Given the description of an element on the screen output the (x, y) to click on. 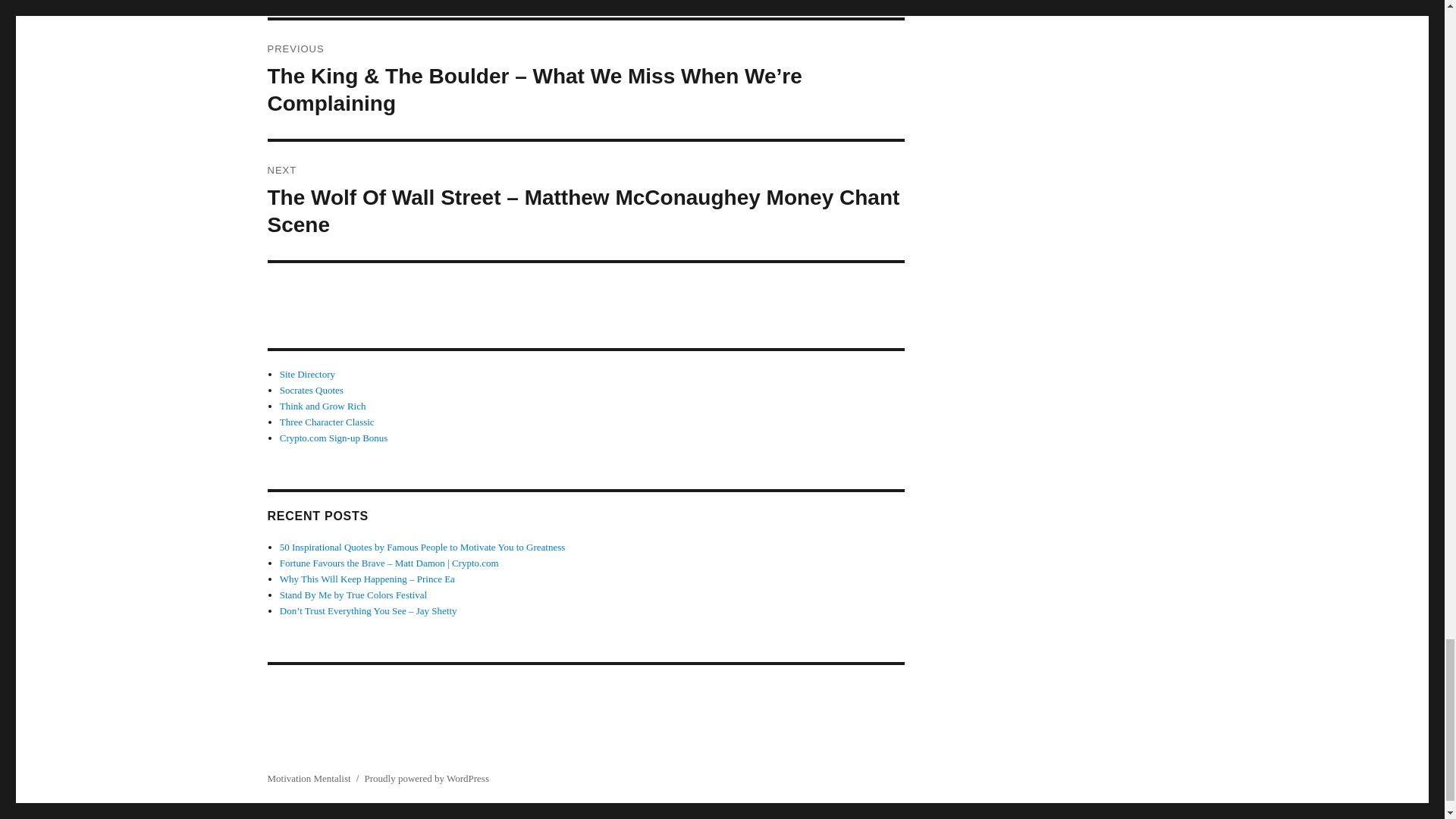
Think and Grow Rich (322, 405)
Site Directory (306, 374)
Stand By Me by True Colors Festival (352, 594)
Site Directory (306, 374)
Three Character Classic (326, 421)
Crypto.com Sign-up Bonus (333, 437)
Socrates Quotes (311, 389)
